Given the description of an element on the screen output the (x, y) to click on. 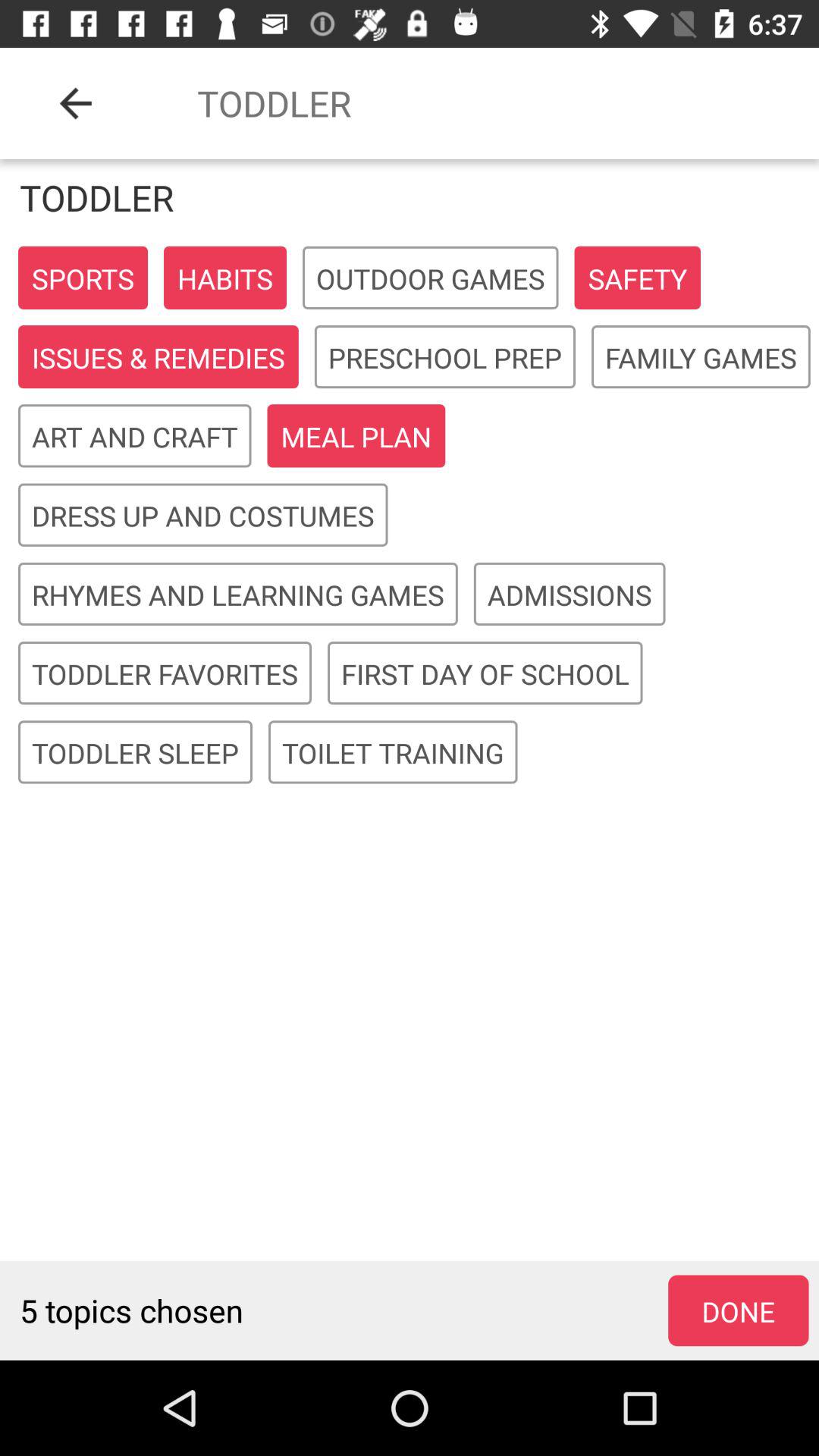
scroll until safety item (637, 278)
